Given the description of an element on the screen output the (x, y) to click on. 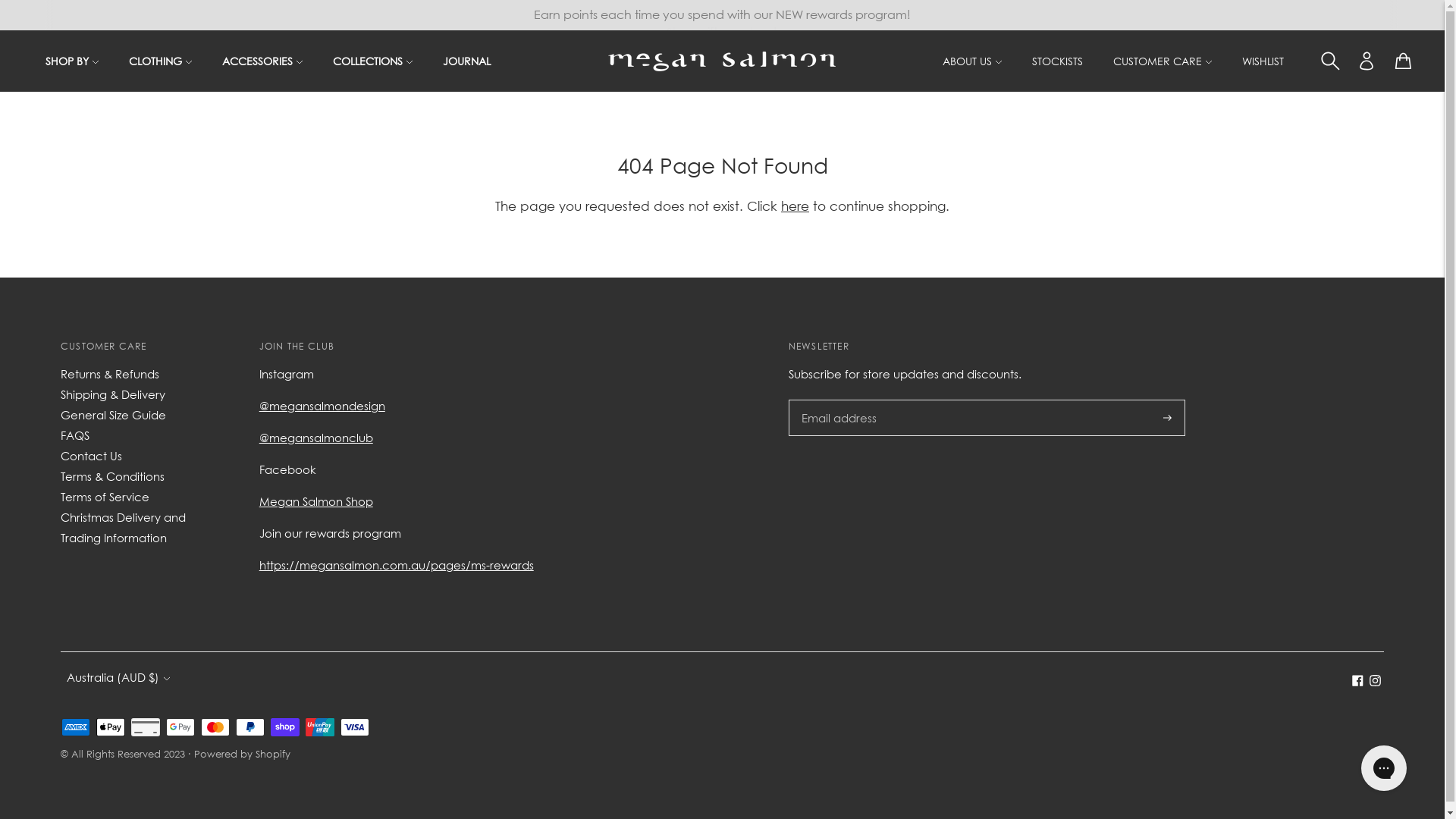
WISHLIST Element type: text (1262, 60)
Our retail store is now open everyday! Element type: text (721, 14)
Powered by Shopify Element type: text (242, 753)
Megan Salmon on Instagram Element type: hover (1374, 681)
Subscribe Element type: text (1167, 417)
ACCESSORIES Element type: text (262, 60)
@megansalmonclub Element type: text (316, 437)
COLLECTIONS Element type: text (372, 60)
CLOTHING Element type: text (160, 60)
SHOP BY Element type: text (71, 60)
https://megansalmon.com.au/pages/ms-rewards Element type: text (396, 564)
Gorgias live chat messenger Element type: hover (1383, 768)
FAQS Element type: text (74, 435)
Christmas Delivery and Trading Information Element type: text (122, 527)
@megansalmondesign Element type: text (322, 405)
ABOUT US Element type: text (971, 60)
Shipping & Delivery Element type: text (112, 394)
JOURNAL Element type: text (466, 60)
Terms of Service Element type: text (104, 496)
STOCKISTS Element type: text (1057, 60)
General Size Guide Element type: text (113, 414)
Terms & Conditions Element type: text (112, 476)
Megan Salmon on Facebook Element type: hover (1357, 681)
Contact Us Element type: text (91, 455)
Australia (AUD $) Element type: text (117, 677)
Megan Salmon Shop Element type: text (316, 501)
Returns & Refunds Element type: text (109, 373)
CUSTOMER CARE Element type: text (1162, 60)
here Element type: text (795, 205)
